Given the description of an element on the screen output the (x, y) to click on. 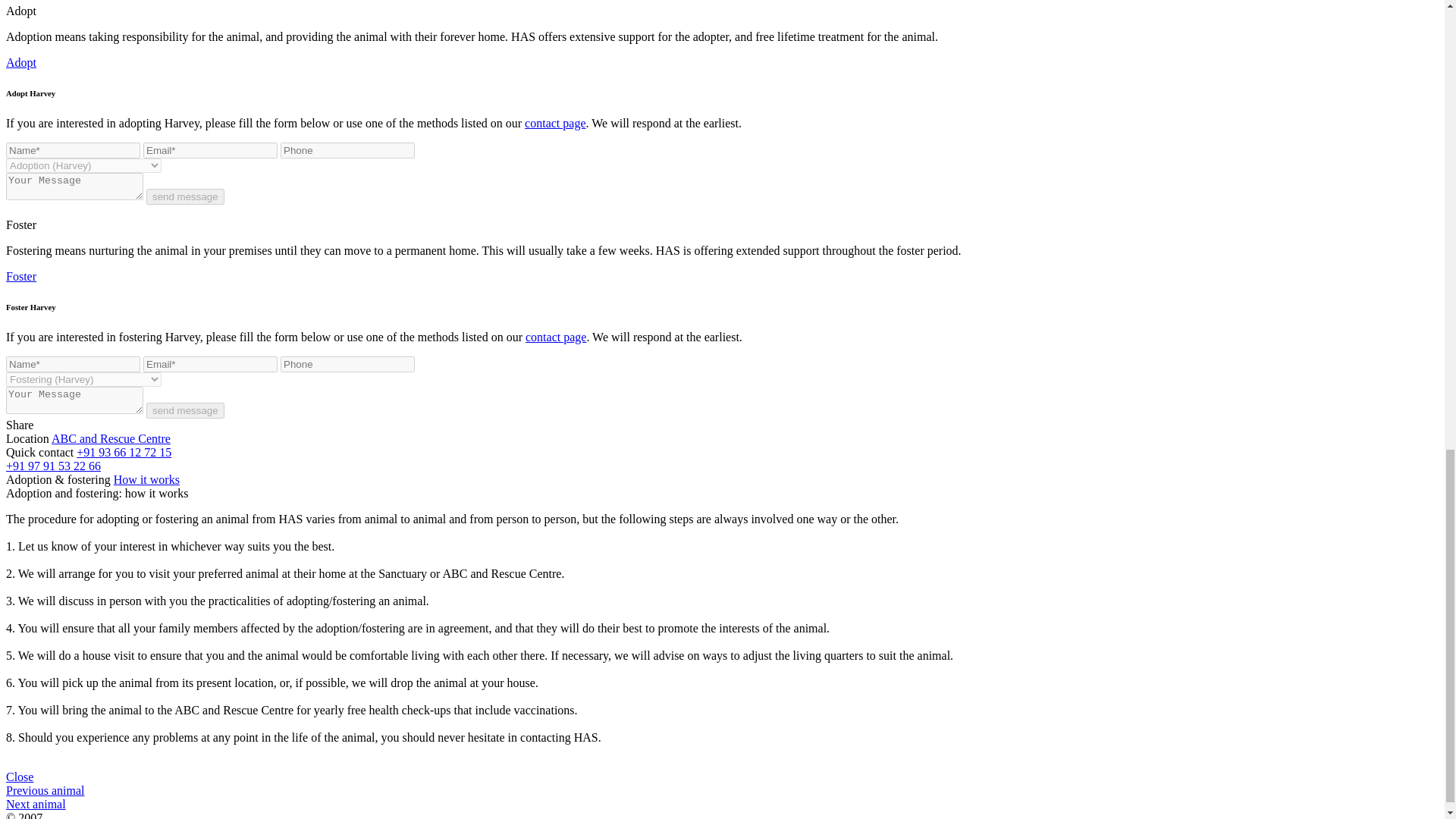
Foster (20, 276)
contact page (555, 336)
send message (185, 410)
send message (185, 196)
contact page (554, 123)
Adopt (20, 62)
